Given the description of an element on the screen output the (x, y) to click on. 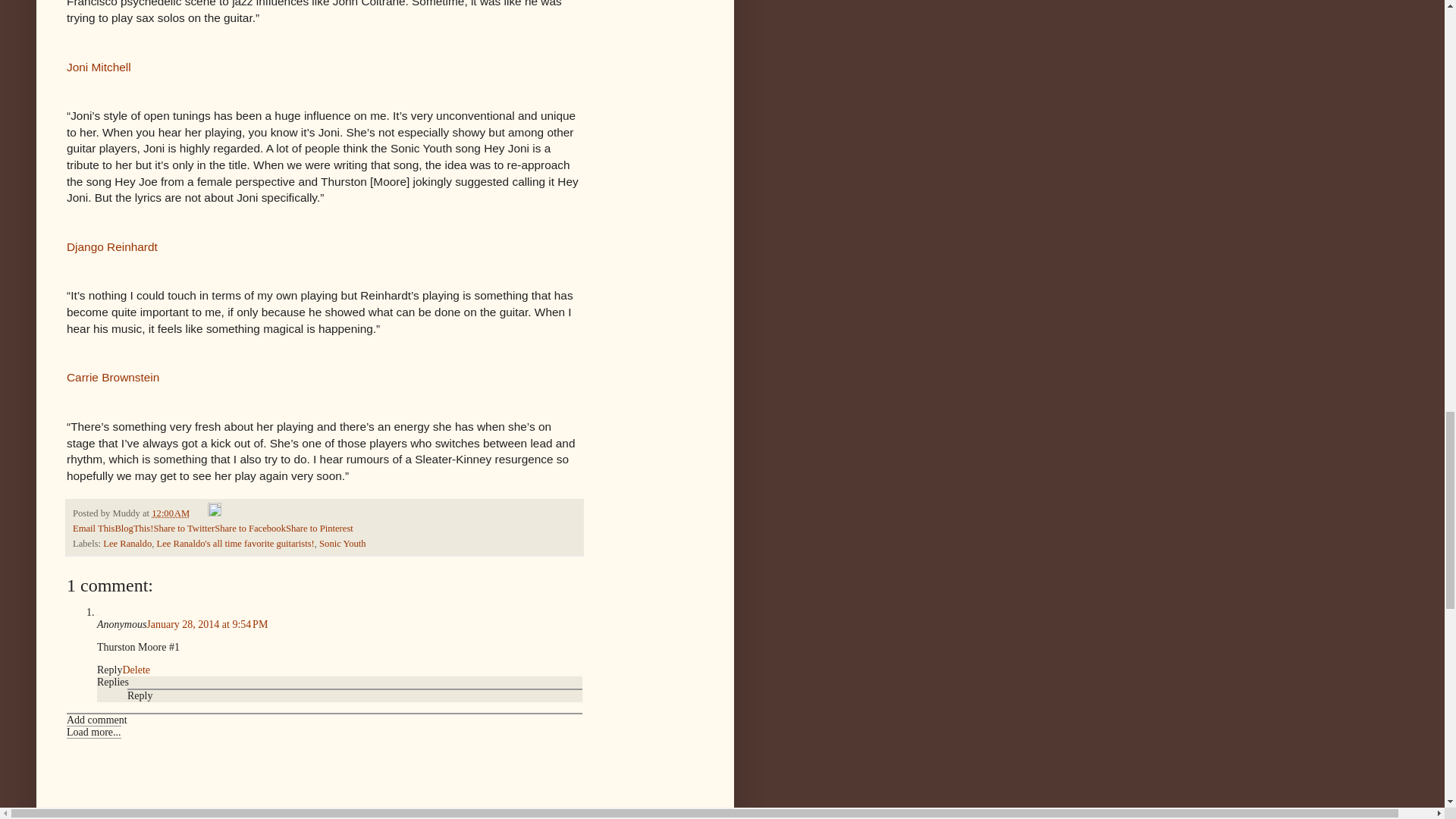
Replies (113, 681)
Reply (140, 695)
BlogThis! (133, 528)
Email This (93, 528)
Reply (109, 669)
Share to Twitter (183, 528)
Joni Mitchell (98, 66)
Share to Facebook (249, 528)
Share to Facebook (249, 528)
Django Reinhardt (111, 246)
Add comment (97, 719)
Email Post (200, 512)
Share to Pinterest (319, 528)
Lee Ranaldo's all time favorite guitarists! (235, 543)
Share to Twitter (183, 528)
